Given the description of an element on the screen output the (x, y) to click on. 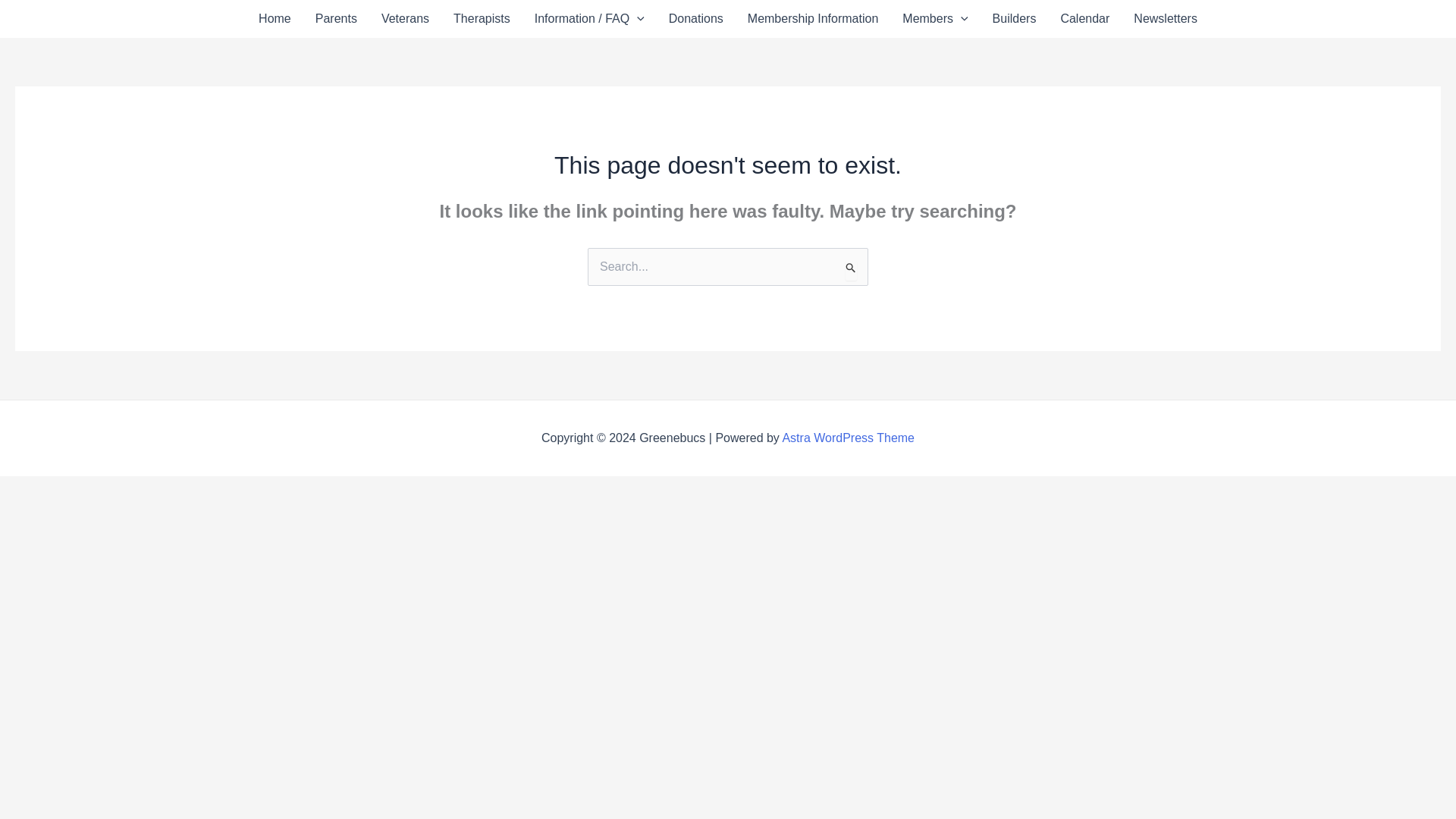
Members (934, 18)
Newsletters (1165, 18)
Astra WordPress Theme (847, 437)
Membership Information (813, 18)
Parents (335, 18)
Veterans (405, 18)
Therapists (481, 18)
Search (850, 269)
Builders (1013, 18)
Donations (695, 18)
Search (850, 269)
Calendar (1084, 18)
Search (850, 269)
Home (274, 18)
